Given the description of an element on the screen output the (x, y) to click on. 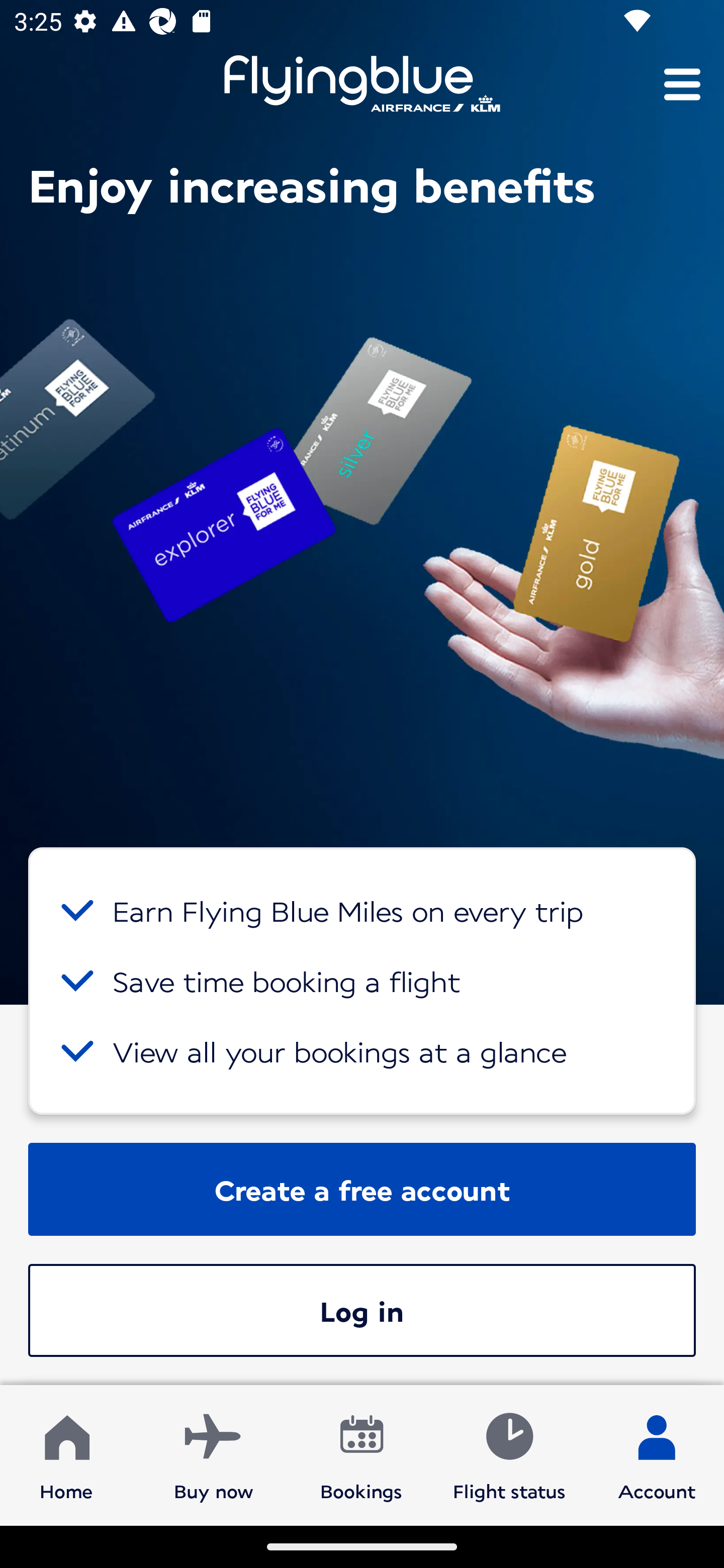
Create a free account (361, 1189)
Log in (361, 1309)
Home (66, 1454)
Buy now (213, 1454)
Bookings (361, 1454)
Flight status (509, 1454)
